Given the description of an element on the screen output the (x, y) to click on. 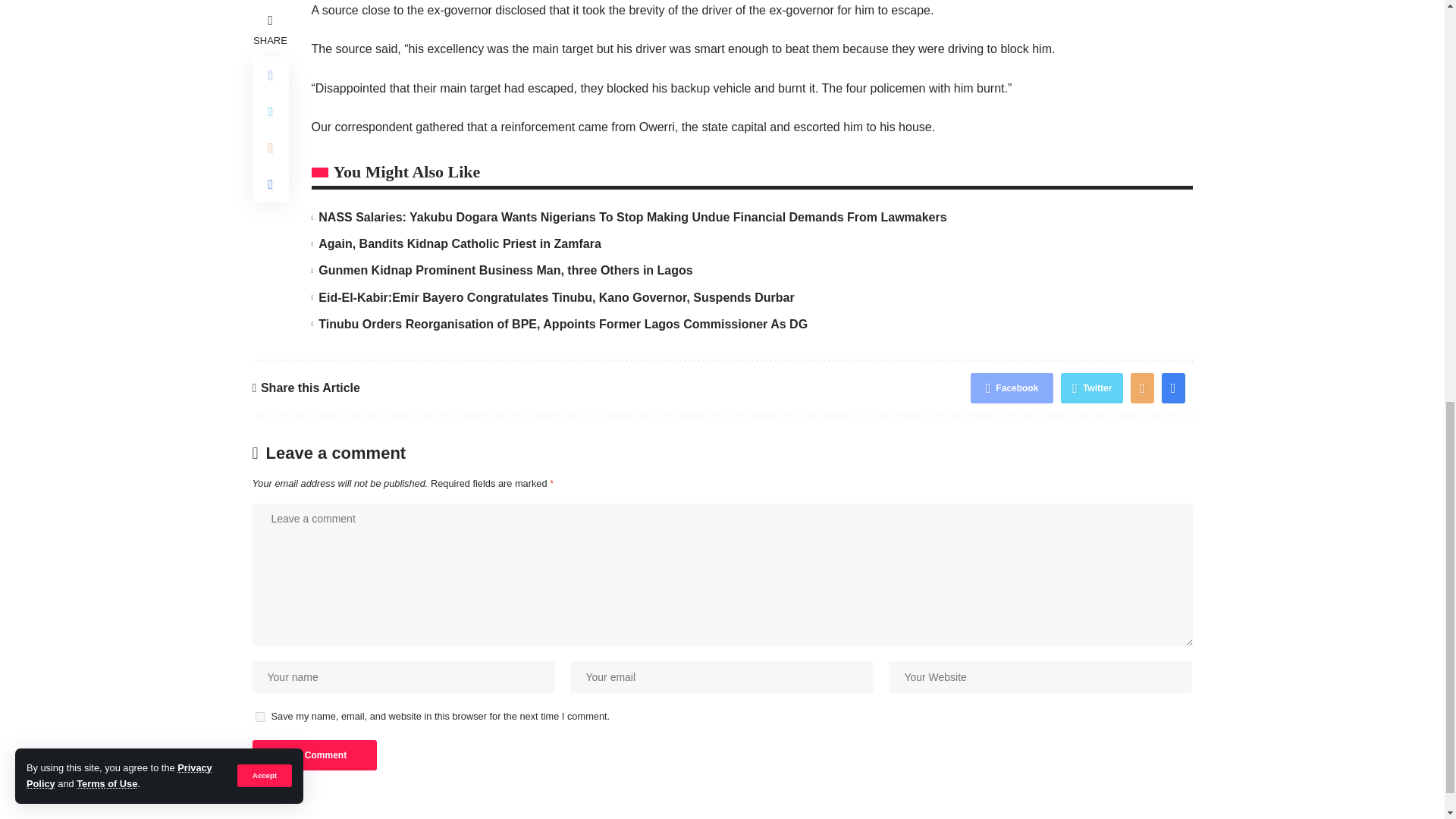
Post Comment (314, 755)
yes (259, 716)
